Given the description of an element on the screen output the (x, y) to click on. 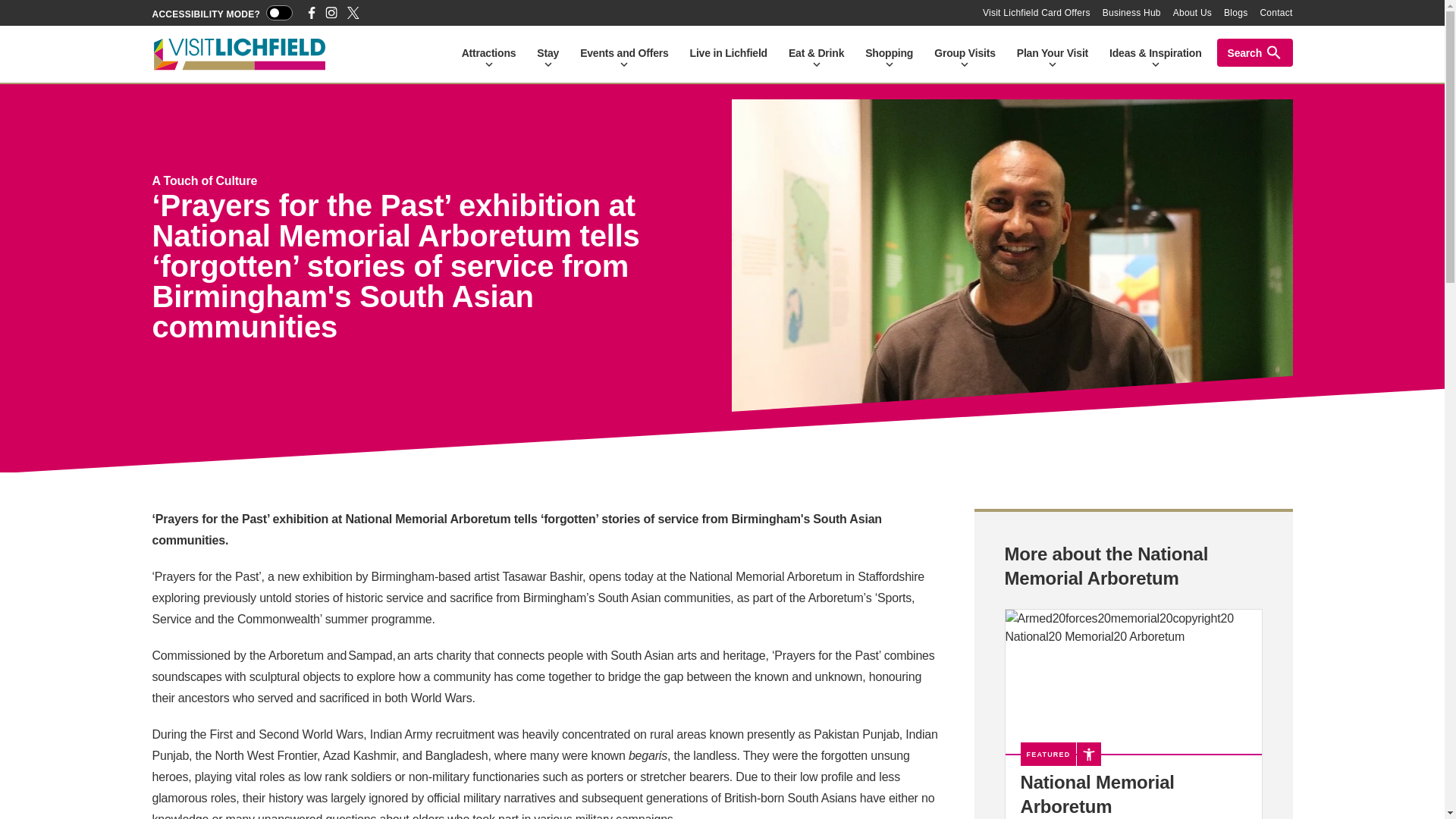
Group Visits (964, 52)
Live in Lichfield (728, 52)
Business Hub (1131, 12)
Shopping (888, 52)
Visit Lichfield Twitter (353, 12)
Plan Your Visit (1052, 52)
Visit Lichfield Card Offers (1036, 12)
Contact (1275, 12)
Visit Lichfield Instagram (330, 12)
About Us (1192, 12)
